Given the description of an element on the screen output the (x, y) to click on. 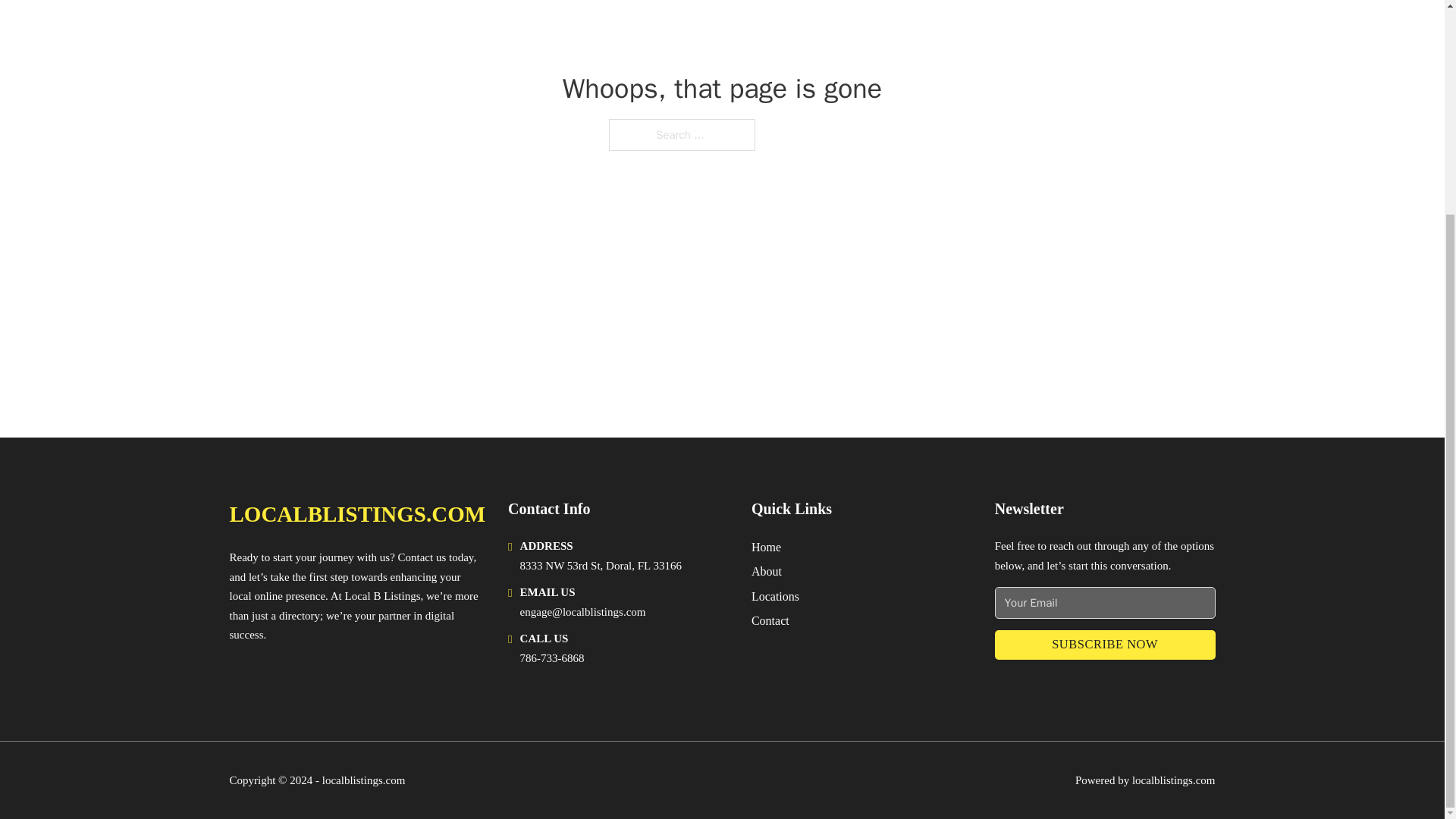
About (766, 571)
786-733-6868 (552, 657)
SUBSCRIBE NOW (1104, 644)
LOCALBLISTINGS.COM (356, 514)
Home (765, 547)
Contact (770, 620)
Locations (775, 596)
